Given the description of an element on the screen output the (x, y) to click on. 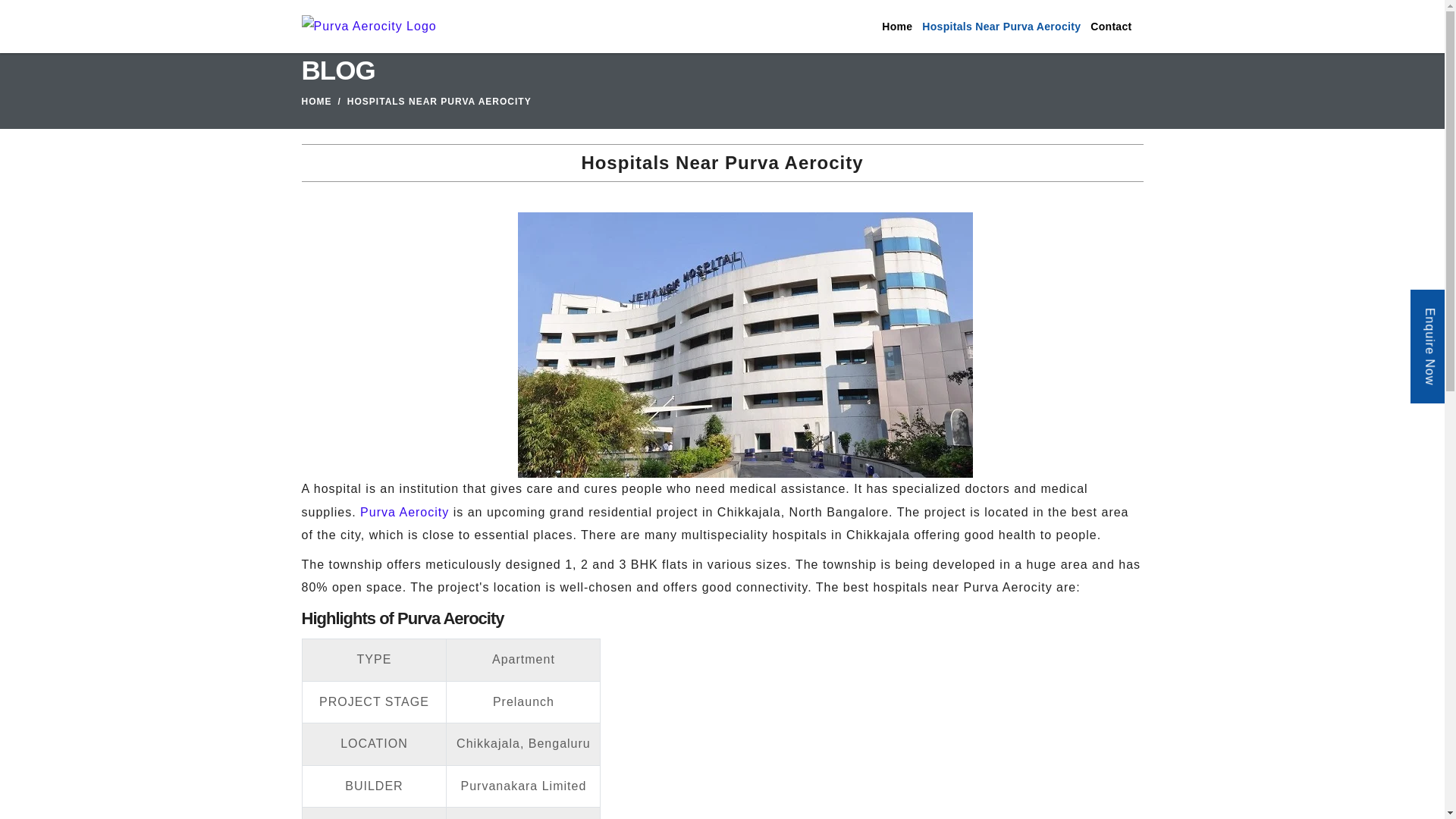
Purva Aerocity Contact (1109, 26)
Purva Aerocity Logo (368, 26)
Purva Aerocity (403, 512)
Purva Aerocity (403, 512)
Hospitals Near Purva Aerocity (999, 26)
Hospitals Near Purva Aerocity (744, 344)
HOME (316, 101)
Purva Aerocity Logo (368, 26)
Hospitals Near Purva Aerocity (999, 26)
Contact (1109, 26)
